Given the description of an element on the screen output the (x, y) to click on. 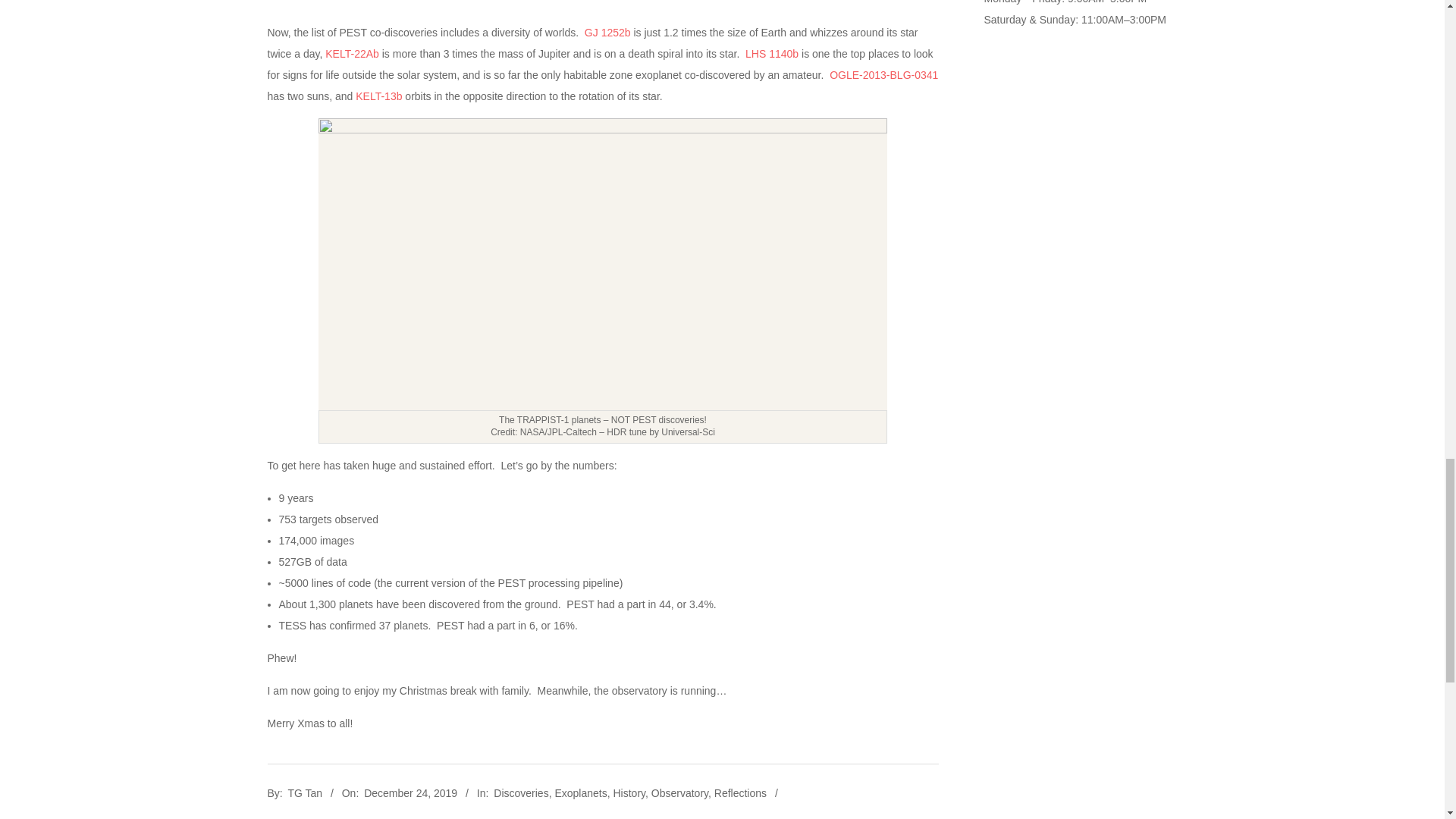
KELT-13b (378, 96)
Exoplanets (580, 793)
GJ 1252b (607, 32)
Discoveries (520, 793)
Posts by TG Tan (303, 793)
Reflections (740, 793)
KELT-22Ab (351, 53)
Tuesday, December 24, 2019, 9:27 pm (410, 793)
LHS 1140b (771, 53)
TG Tan (303, 793)
